Given the description of an element on the screen output the (x, y) to click on. 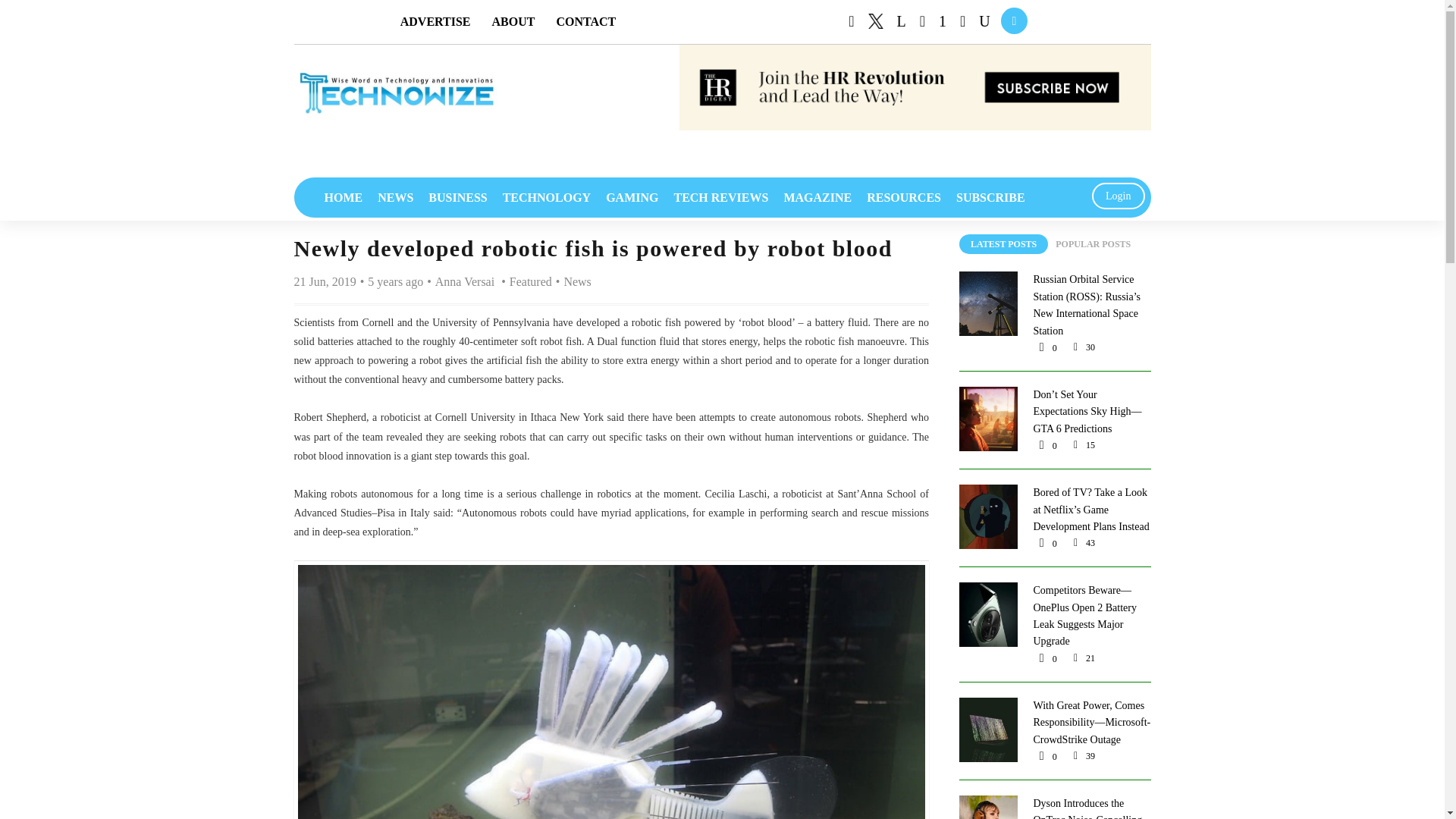
ADVERTISE (435, 21)
Technowize (396, 92)
ABOUT (513, 21)
CONTACT (585, 21)
